Given the description of an element on the screen output the (x, y) to click on. 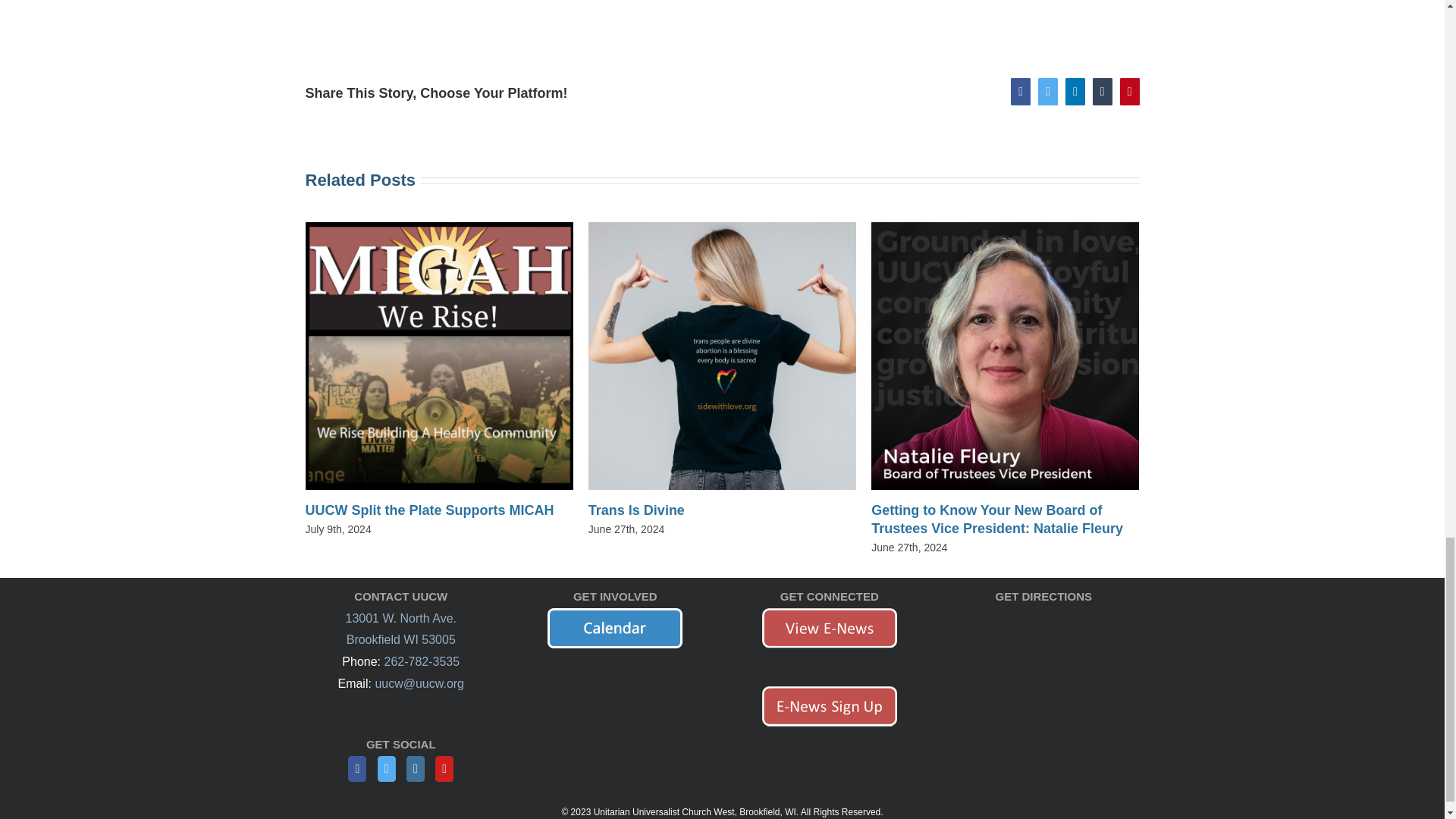
UUCW Split the Plate Supports MICAH (428, 509)
